Given the description of an element on the screen output the (x, y) to click on. 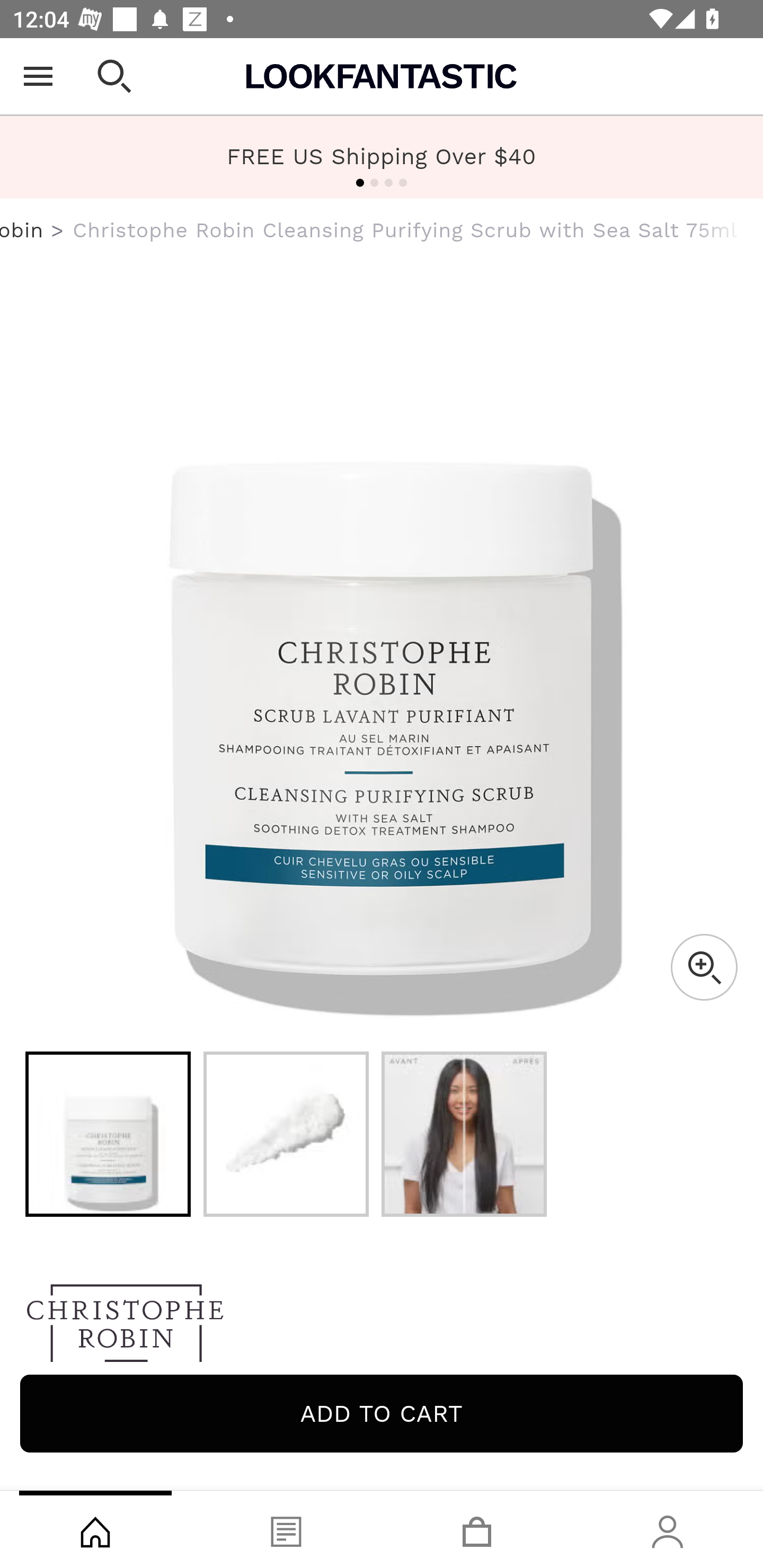
Open Menu (38, 75)
Open search (114, 75)
Lookfantastic USA (381, 75)
FREE US Shipping Over $40 (381, 157)
FREE US Shipping Over $40 (381, 155)
Christophe Robin (22, 230)
Zoom (703, 966)
Christophe Robin (381, 1327)
Add to cart (381, 1413)
Shop, tab, 1 of 4 (95, 1529)
Blog, tab, 2 of 4 (285, 1529)
Basket, tab, 3 of 4 (476, 1529)
Account, tab, 4 of 4 (667, 1529)
